Given the description of an element on the screen output the (x, y) to click on. 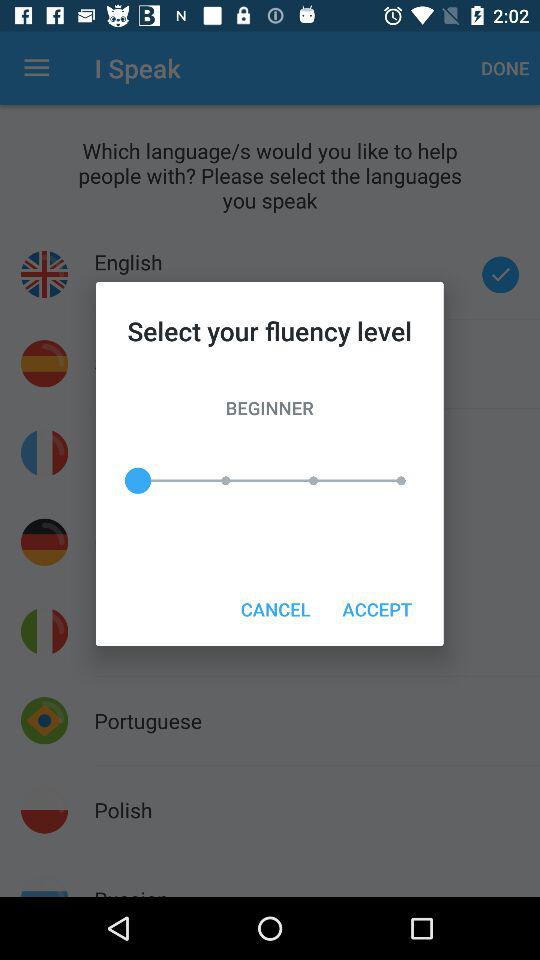
tap the item next to the cancel item (376, 608)
